Given the description of an element on the screen output the (x, y) to click on. 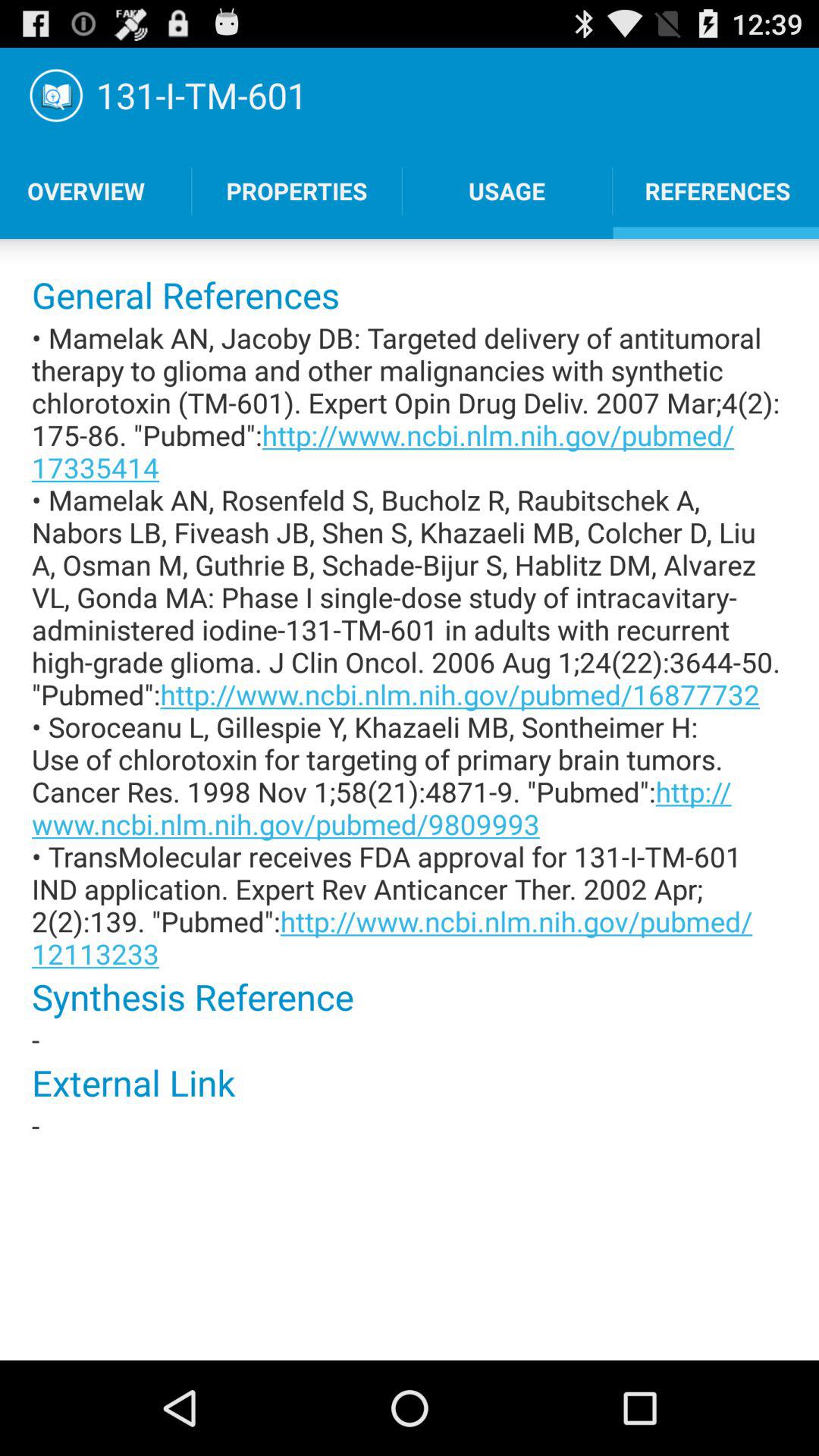
flip to the - item (409, 1039)
